Given the description of an element on the screen output the (x, y) to click on. 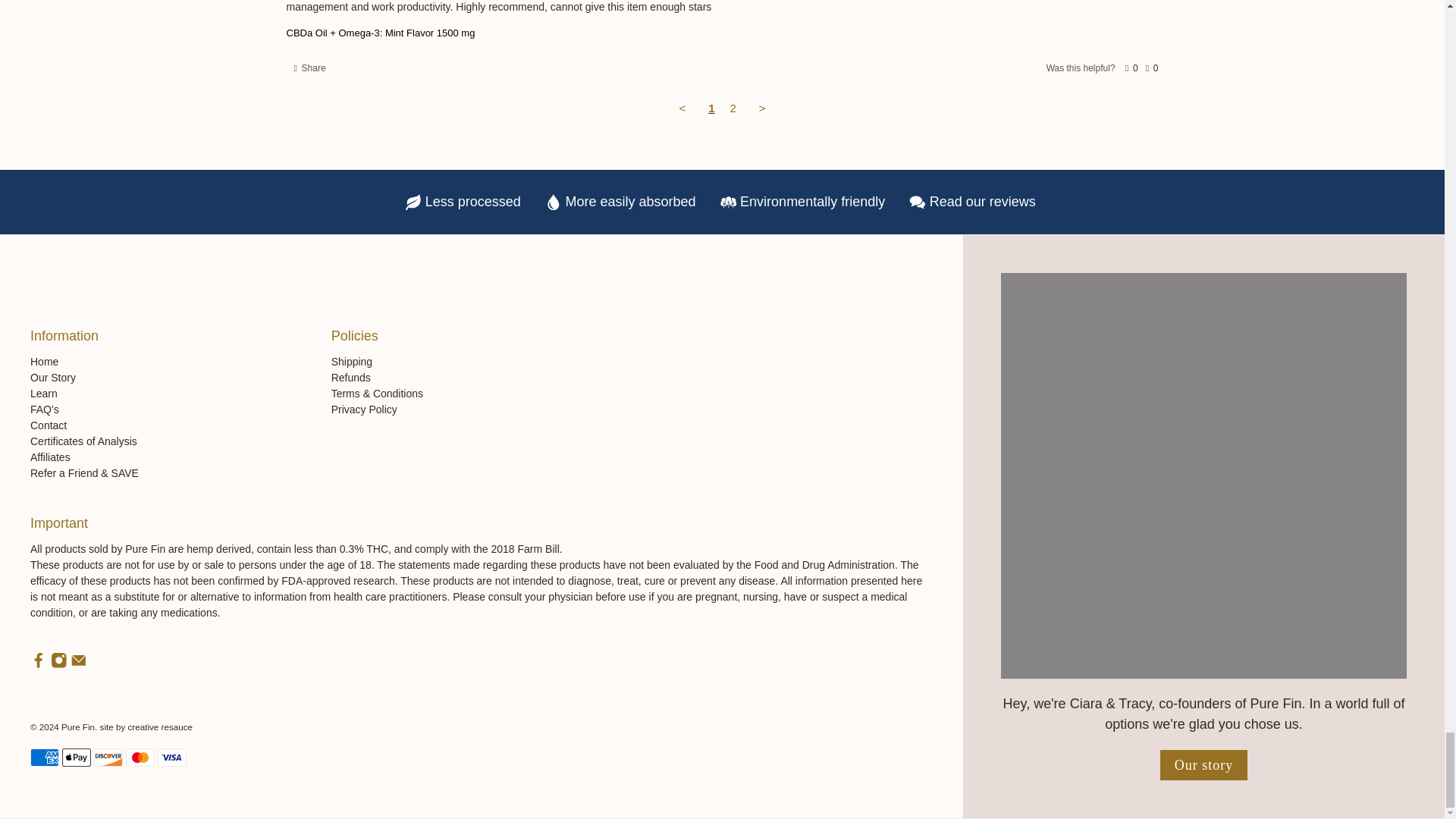
Pure Fin on Facebook (38, 664)
Apple Pay (76, 757)
Pure Fin on Instagram (58, 664)
Creative Resauce (160, 726)
Discover (108, 757)
Visa (171, 757)
Pure Fin (87, 264)
American Express (44, 757)
Email Pure Fin (78, 664)
Mastercard (139, 757)
